Given the description of an element on the screen output the (x, y) to click on. 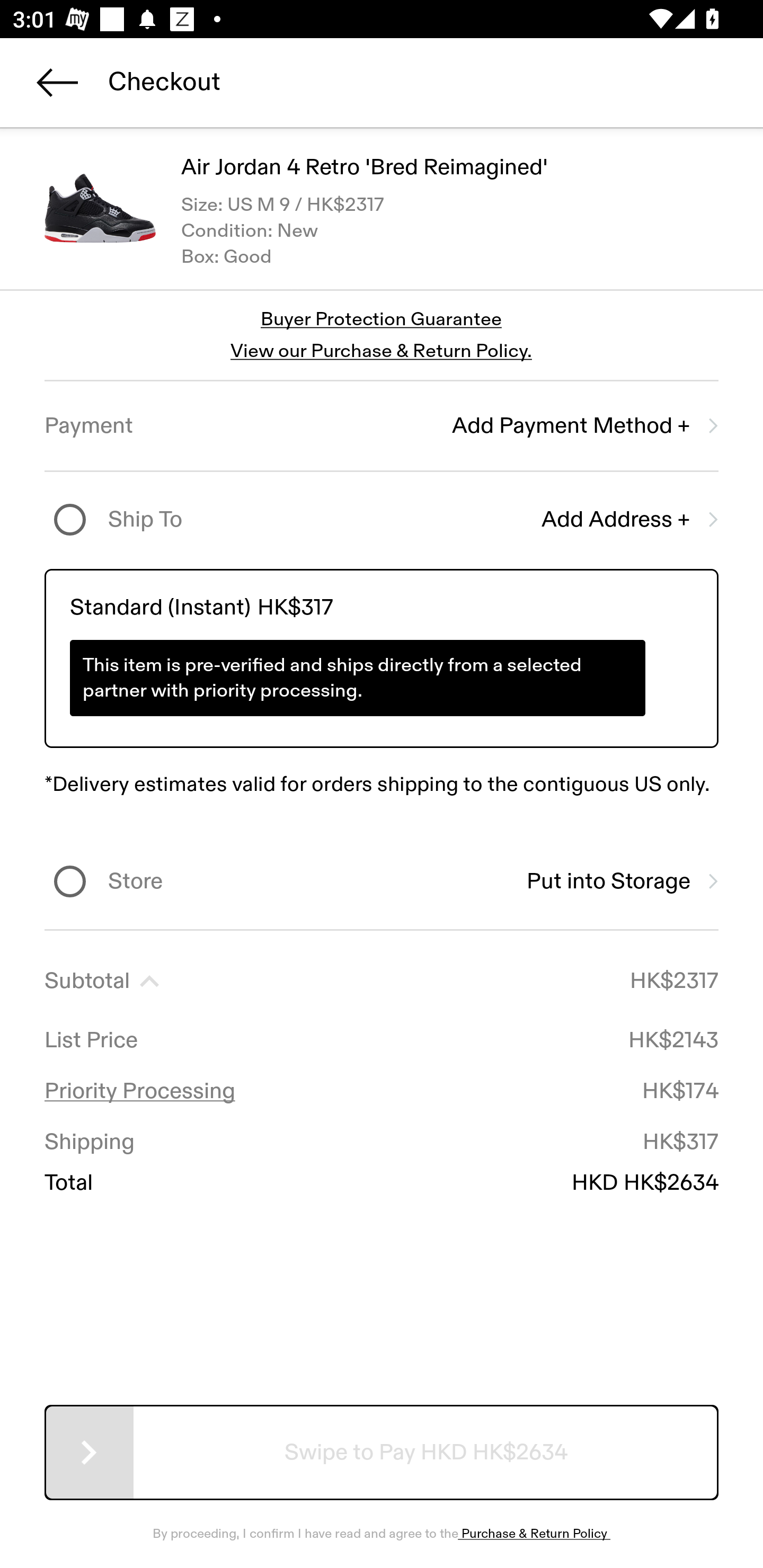
Navigate up (56, 82)
Buyer Protection Guarantee (381, 319)
View our Purchase & Return Policy. (380, 350)
Payment Add Payment Method + (381, 425)
Subtotal HK$2317 (381, 981)
Priority Processing HK$174 (381, 1091)
